Given the description of an element on the screen output the (x, y) to click on. 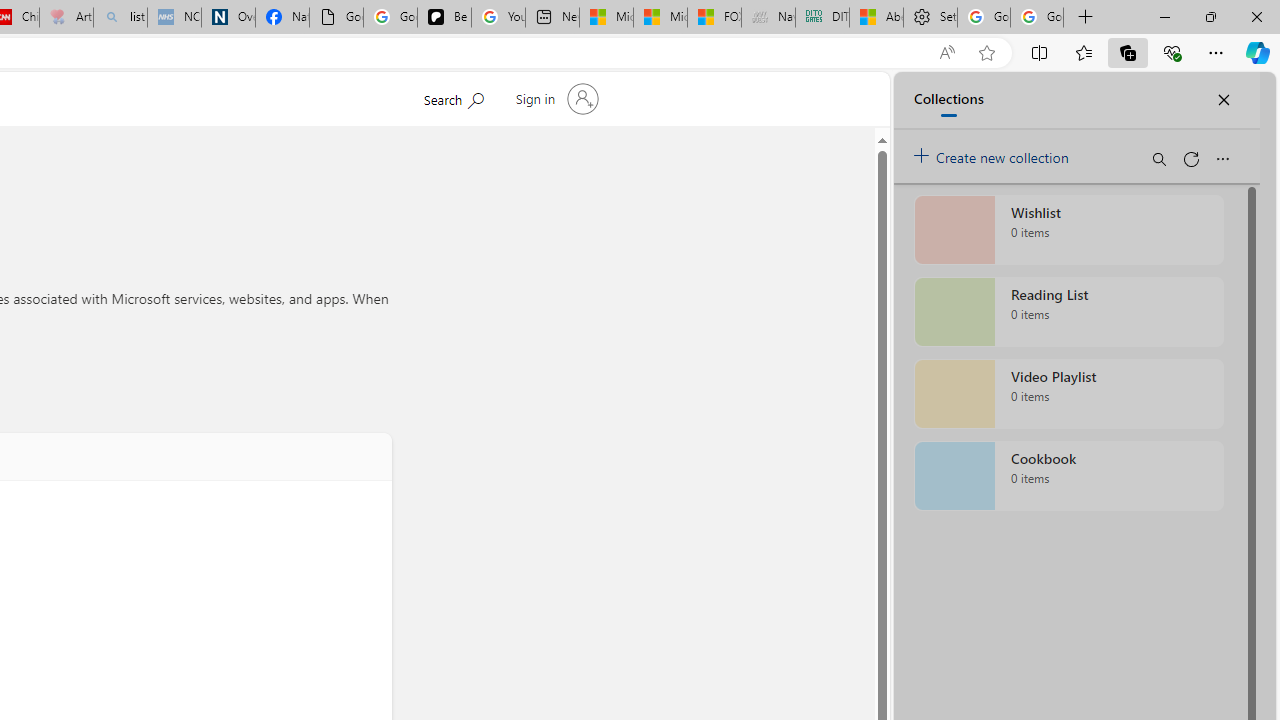
Google Analytics Opt-out Browser Add-on Download Page (336, 17)
Search Microsoft.com (452, 97)
Be Smart | creating Science videos | Patreon (444, 17)
Arthritis: Ask Health Professionals - Sleeping (66, 17)
